Given the description of an element on the screen output the (x, y) to click on. 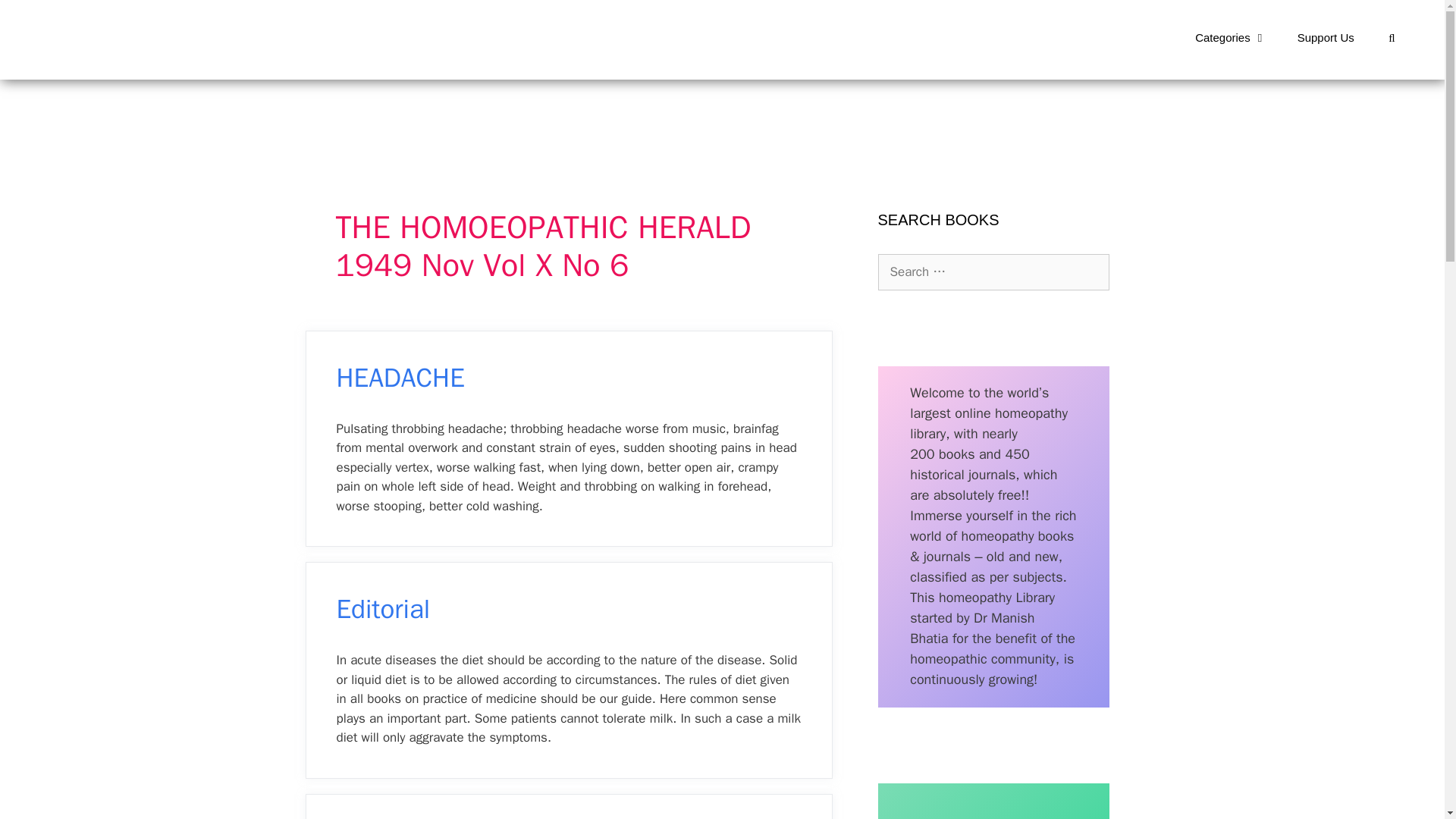
HEADACHE (400, 377)
Search (36, 18)
Categories (1230, 37)
Editorial (383, 608)
Support Us (1326, 37)
Search for: (993, 271)
